Given the description of an element on the screen output the (x, y) to click on. 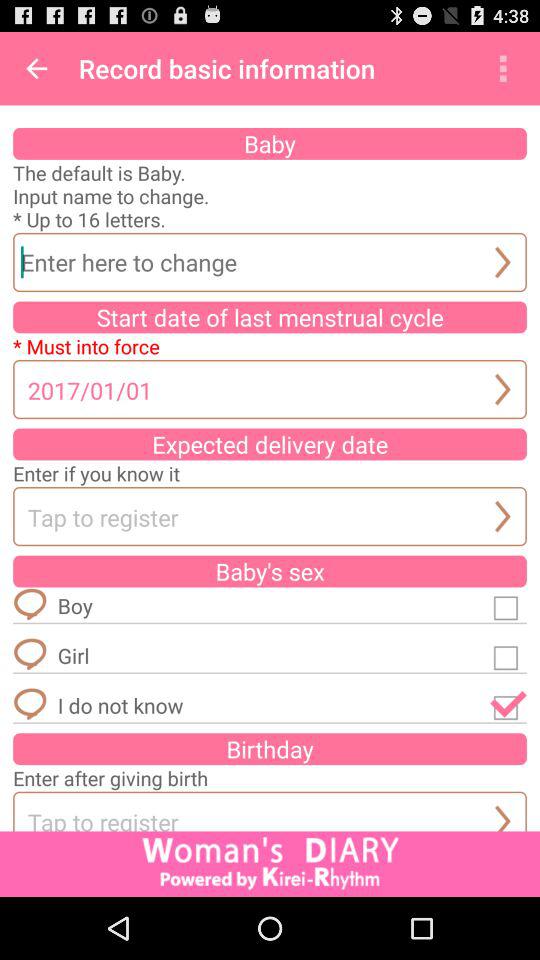
enter baby name (269, 261)
